Given the description of an element on the screen output the (x, y) to click on. 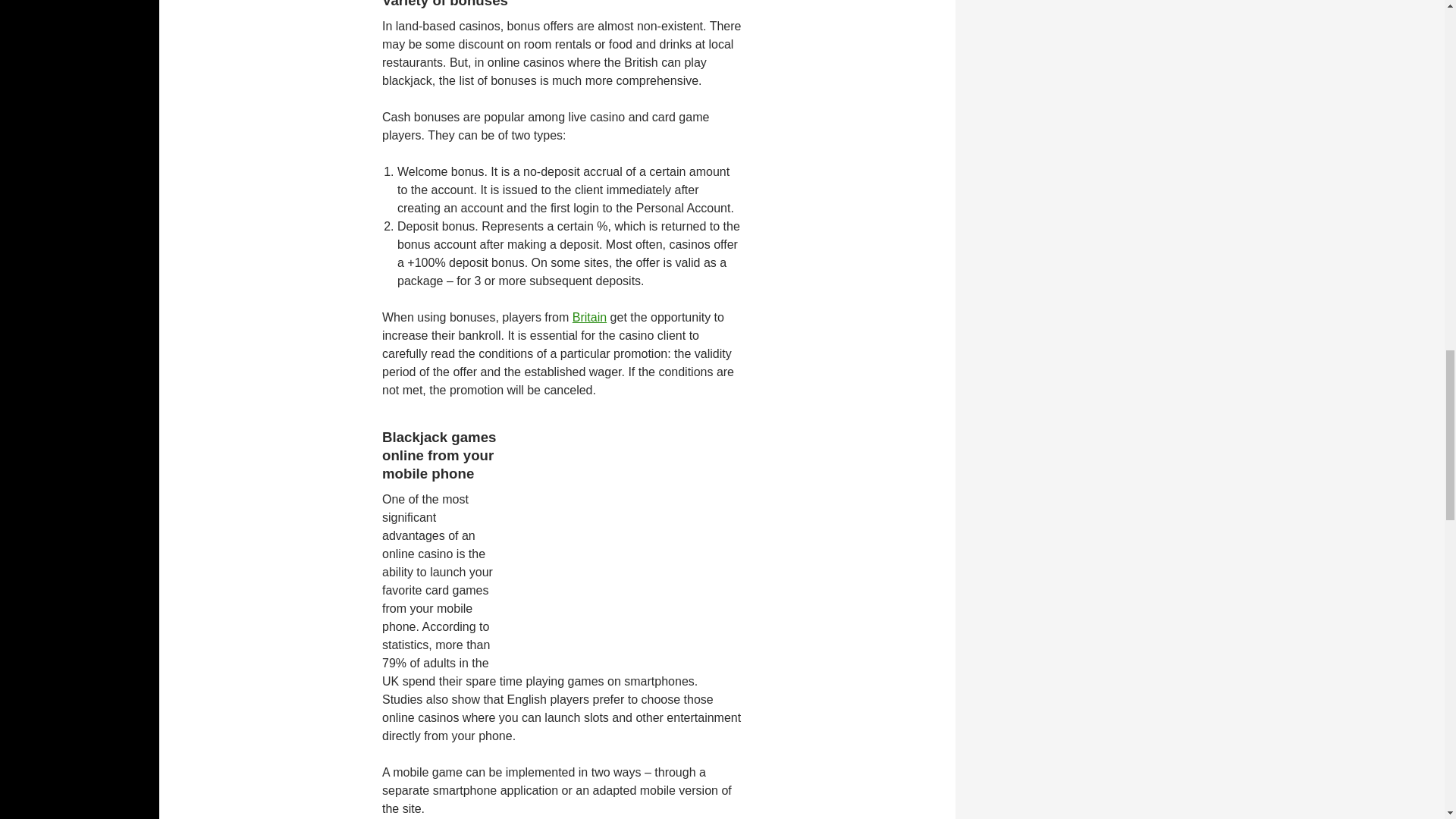
iphone (628, 545)
Pinterest (71, 6)
Twitter (52, 6)
Mastodon (89, 4)
Mastodon (89, 5)
Facebook (32, 6)
